Given the description of an element on the screen output the (x, y) to click on. 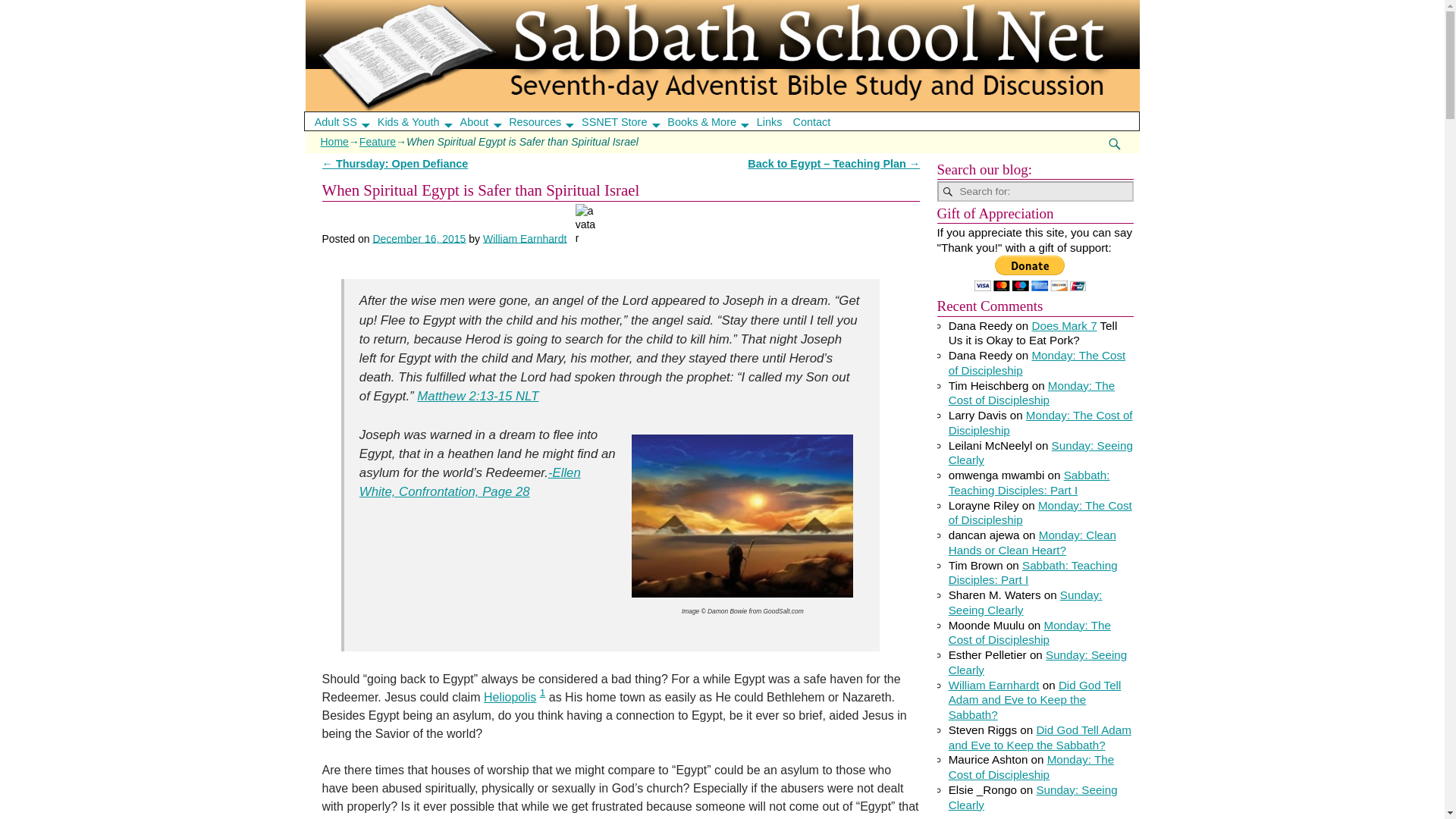
Adult SS (346, 121)
About (485, 121)
View all posts by William Earnhardt (524, 237)
7:19 am (418, 237)
Resources (545, 121)
